Given the description of an element on the screen output the (x, y) to click on. 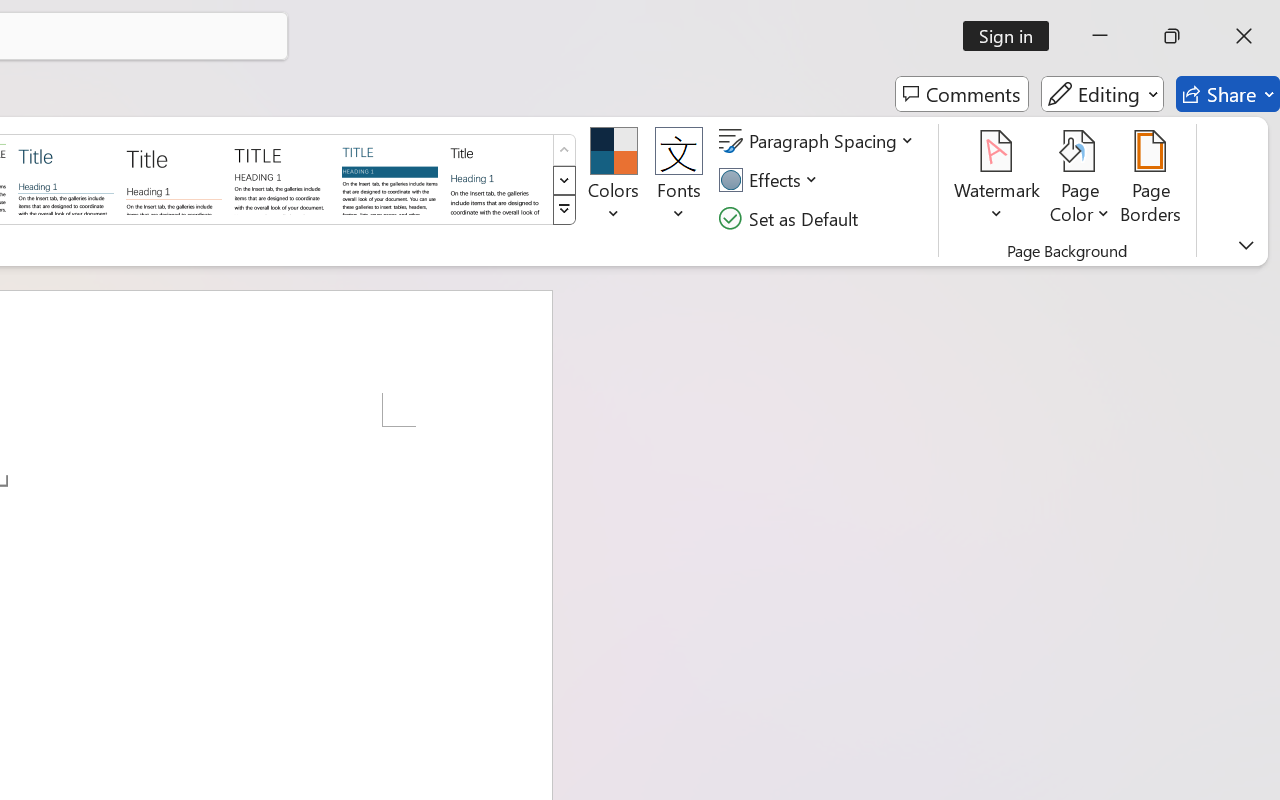
Effects (771, 179)
Word (497, 178)
Minimalist (281, 178)
Paragraph Spacing (819, 141)
Watermark (997, 179)
Lines (Simple) (65, 178)
Style Set (564, 209)
